Given the description of an element on the screen output the (x, y) to click on. 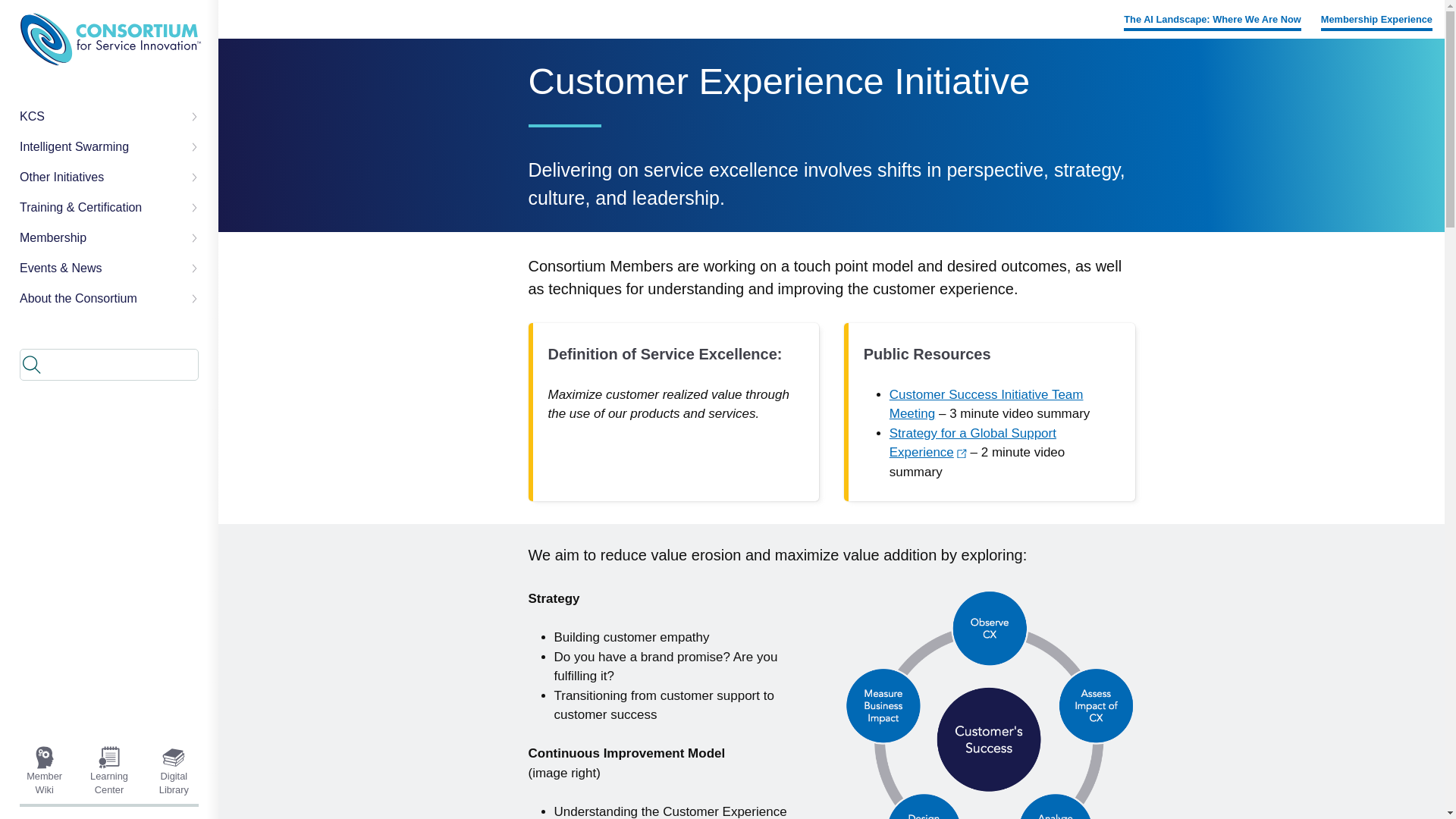
Consortium for Service Innovation (111, 39)
Membership (109, 237)
About the Consortium (109, 298)
Intelligent Swarming (109, 146)
KCS (109, 116)
Other Initiatives (109, 177)
